Given the description of an element on the screen output the (x, y) to click on. 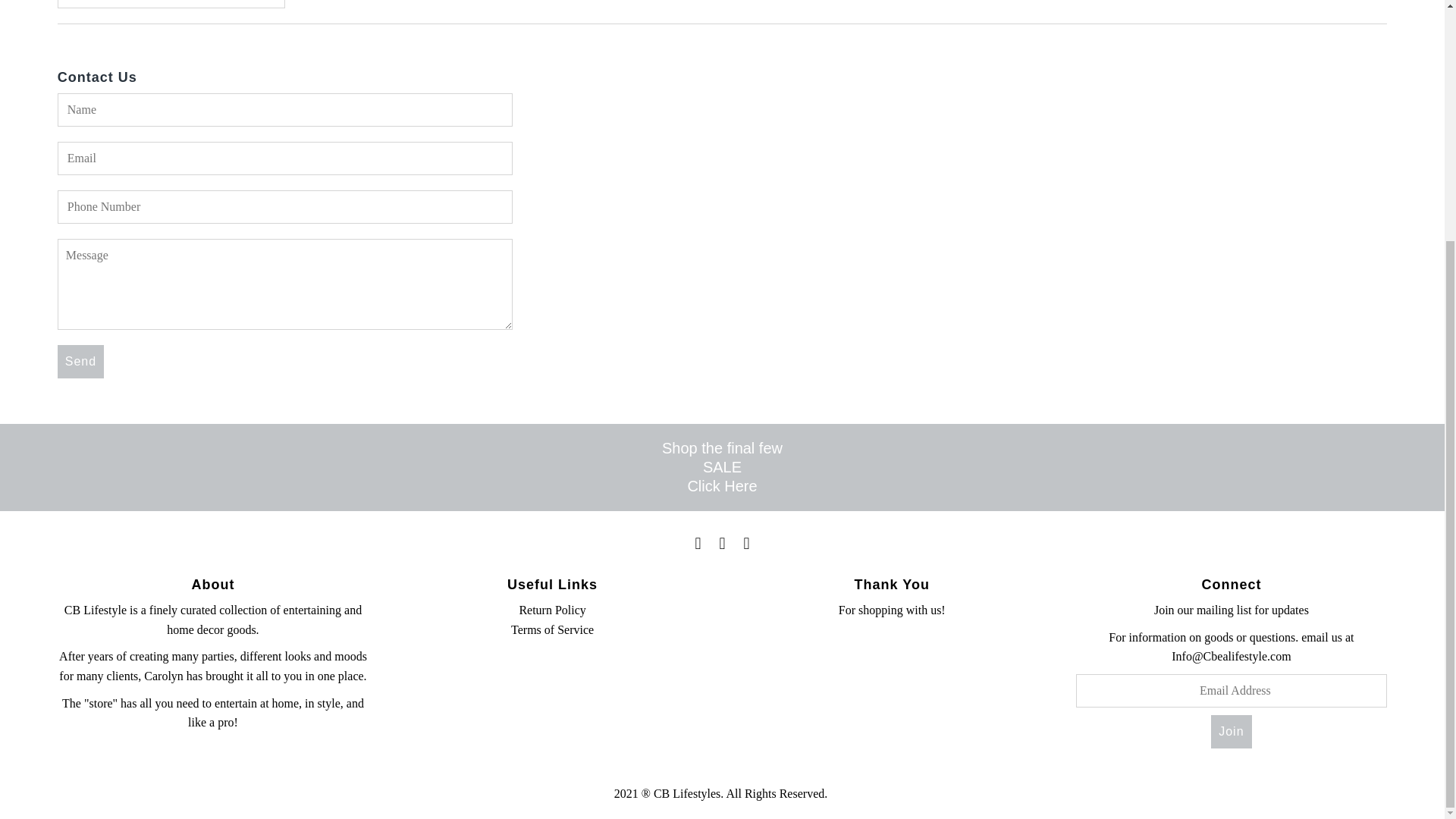
Send (80, 361)
Fall Preview (722, 485)
Join (1230, 731)
